Given the description of an element on the screen output the (x, y) to click on. 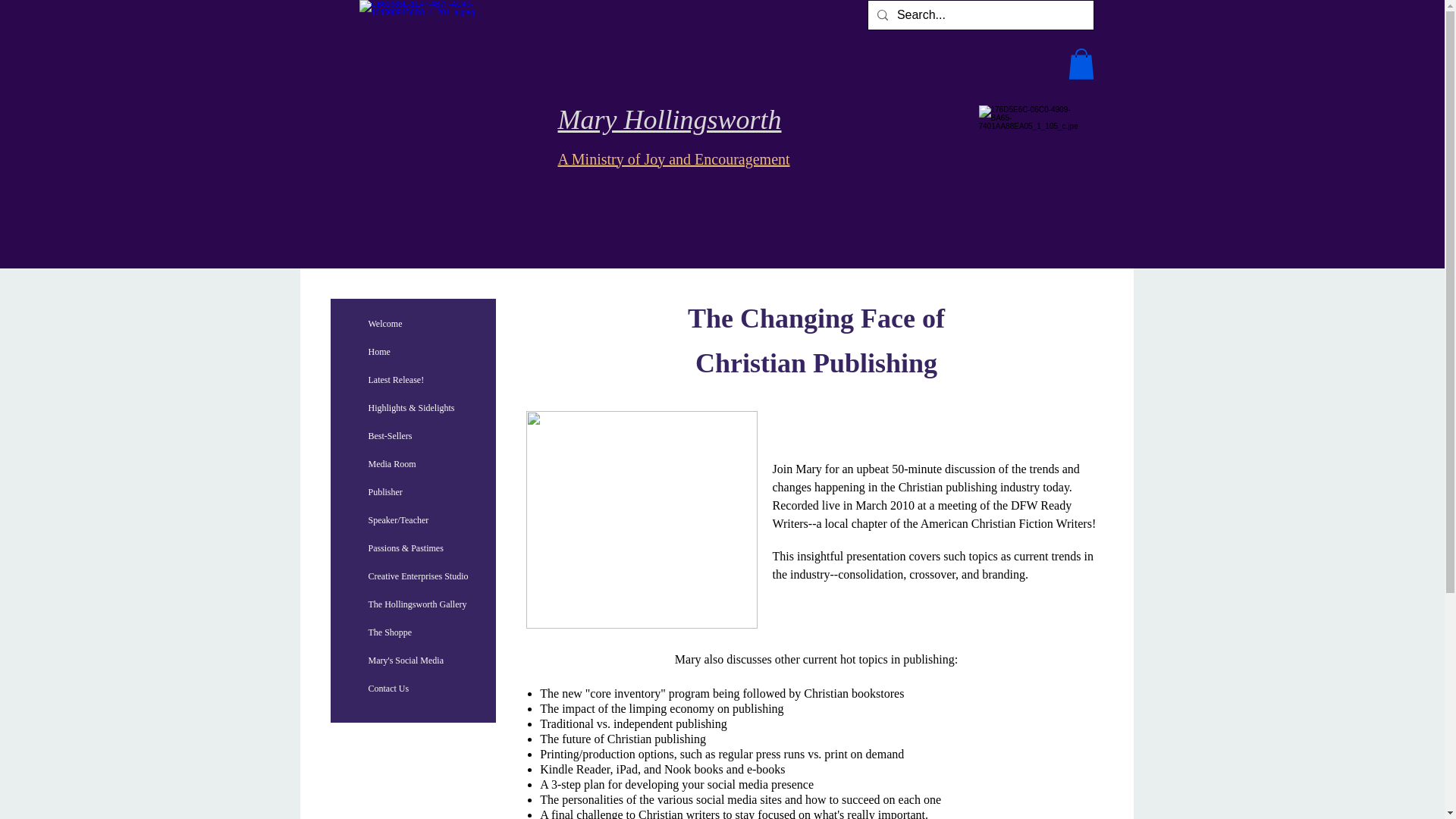
Encouragement (742, 154)
Best-Sellers (390, 435)
The Shoppe (390, 632)
Contact Us (388, 688)
Creative Enterprises Studio (418, 575)
The Hollingsworth Gallery (417, 604)
Home (379, 351)
Latest Release! (396, 379)
Welcome (385, 323)
Mary Hollingsworth (669, 118)
Mary's Social Media (406, 660)
Publisher (385, 492)
A Ministry of Joy and (626, 154)
Media Room (392, 463)
